Given the description of an element on the screen output the (x, y) to click on. 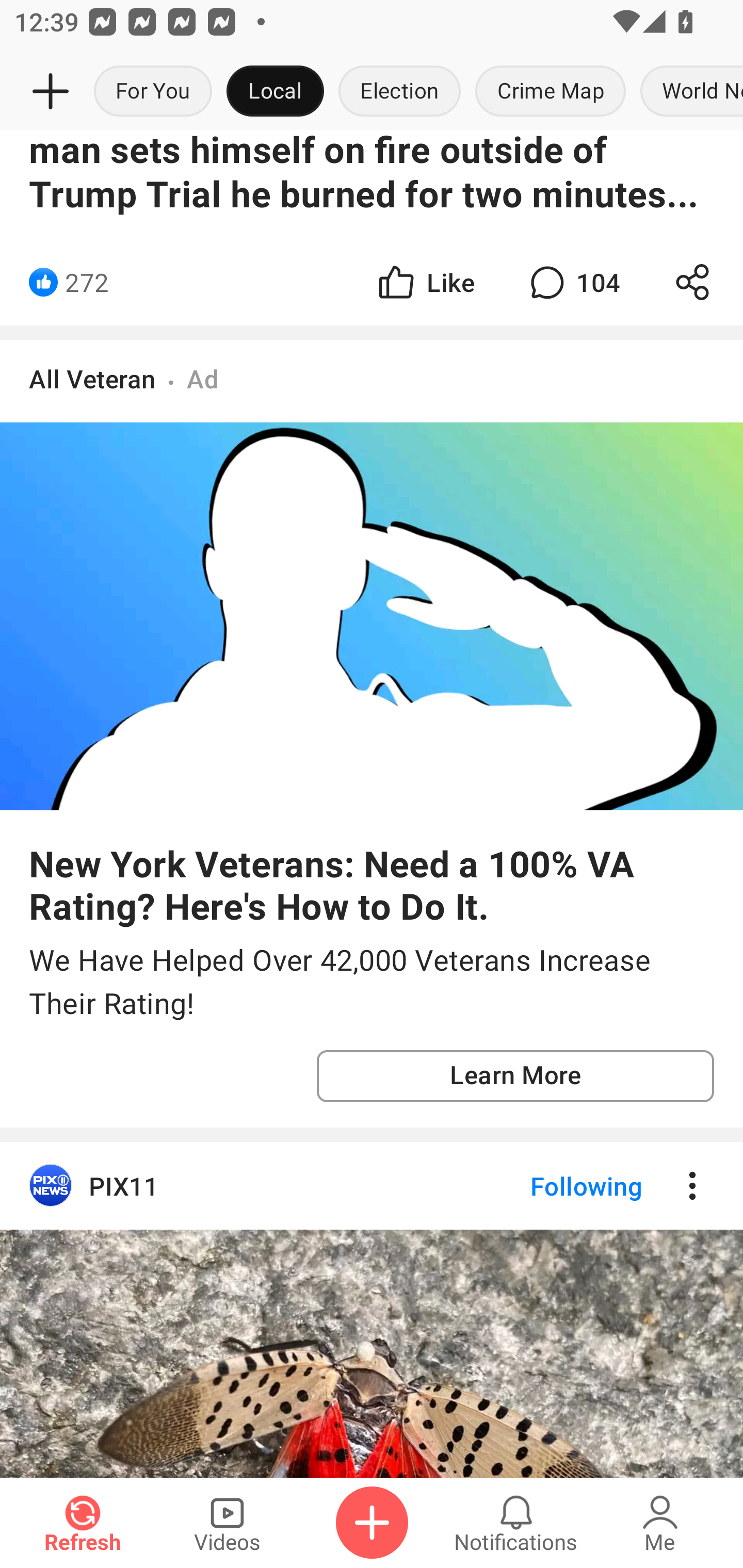
For You (152, 91)
Local (275, 91)
Election (399, 91)
Crime Map (550, 91)
World News (688, 91)
272 (87, 282)
Like (425, 282)
104 (572, 282)
All Veteran (92, 378)
Learn More (515, 1076)
PIX11 Following (371, 1309)
PIX11 Following (371, 1185)
Following (569, 1185)
Videos (227, 1522)
Notifications (516, 1522)
Me (659, 1522)
